Given the description of an element on the screen output the (x, y) to click on. 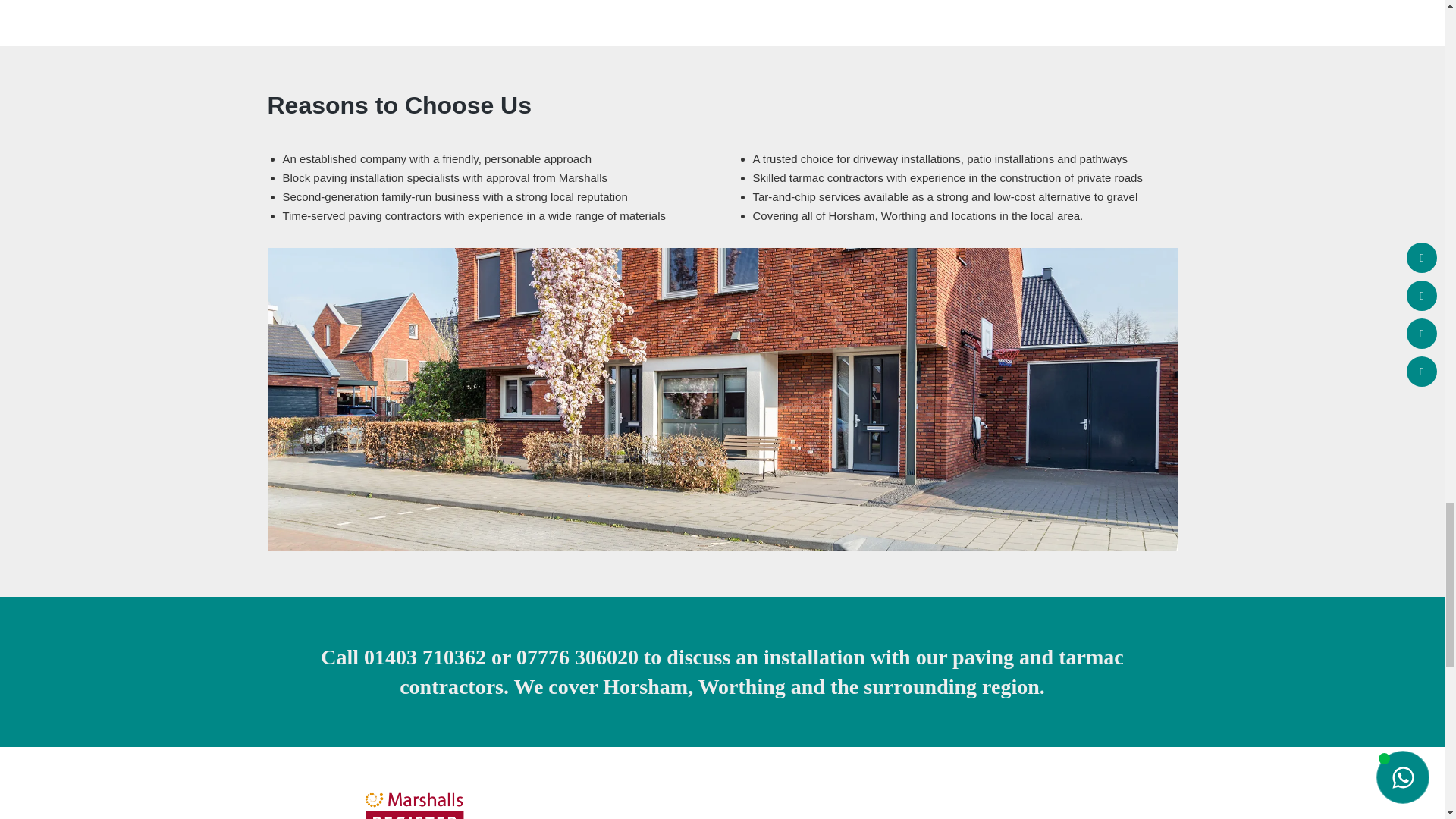
01403 710362 (425, 657)
07776 306020 (577, 657)
